Given the description of an element on the screen output the (x, y) to click on. 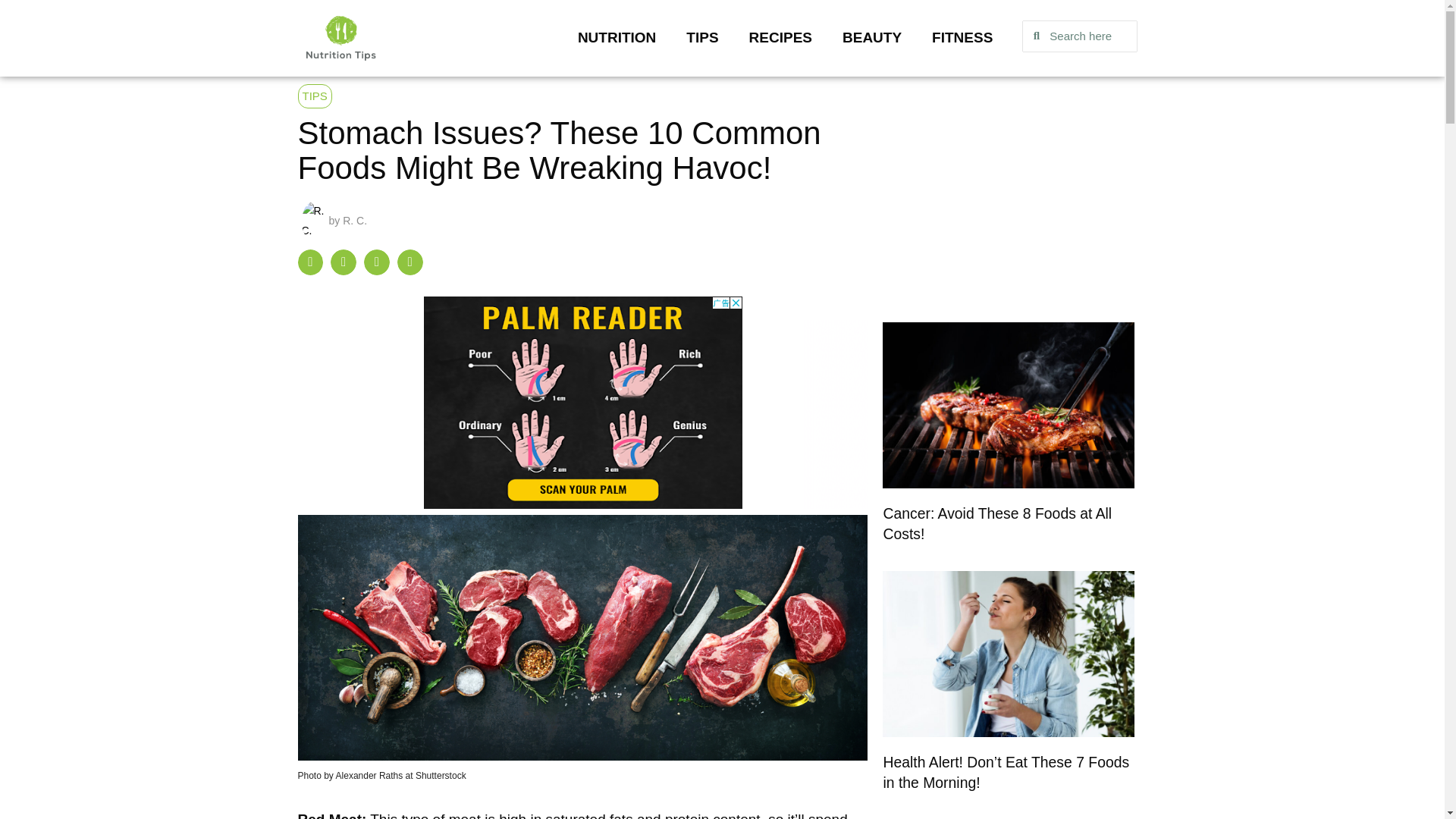
Advertisement (582, 402)
Advertisement (1008, 185)
TIPS (313, 95)
TIPS (702, 37)
by R. C. (334, 220)
BEAUTY (872, 37)
FITNESS (962, 37)
NUTRITION (616, 37)
RECIPES (780, 37)
